Given the description of an element on the screen output the (x, y) to click on. 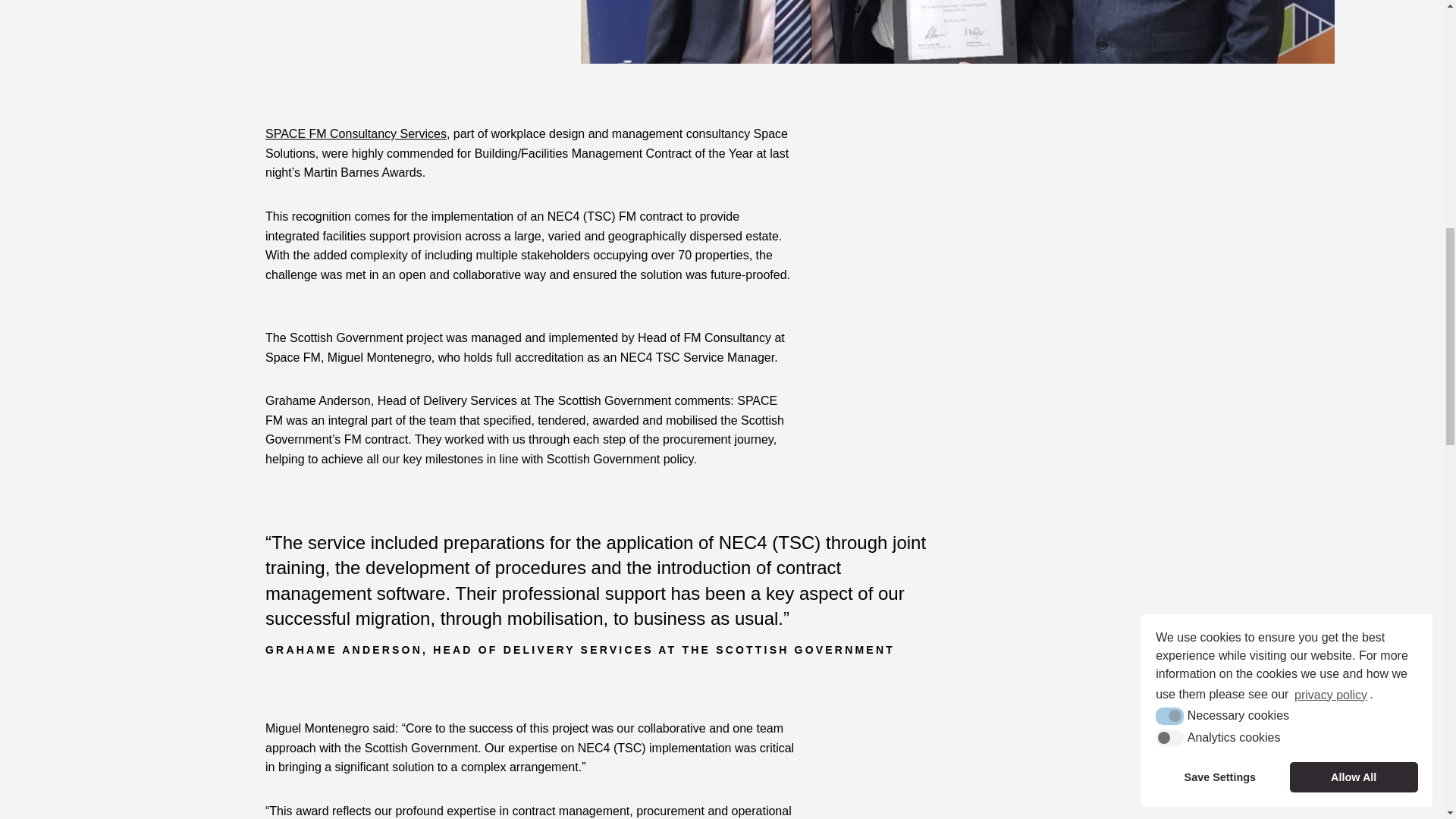
SPACE FM Consultancy Services (355, 133)
